Given the description of an element on the screen output the (x, y) to click on. 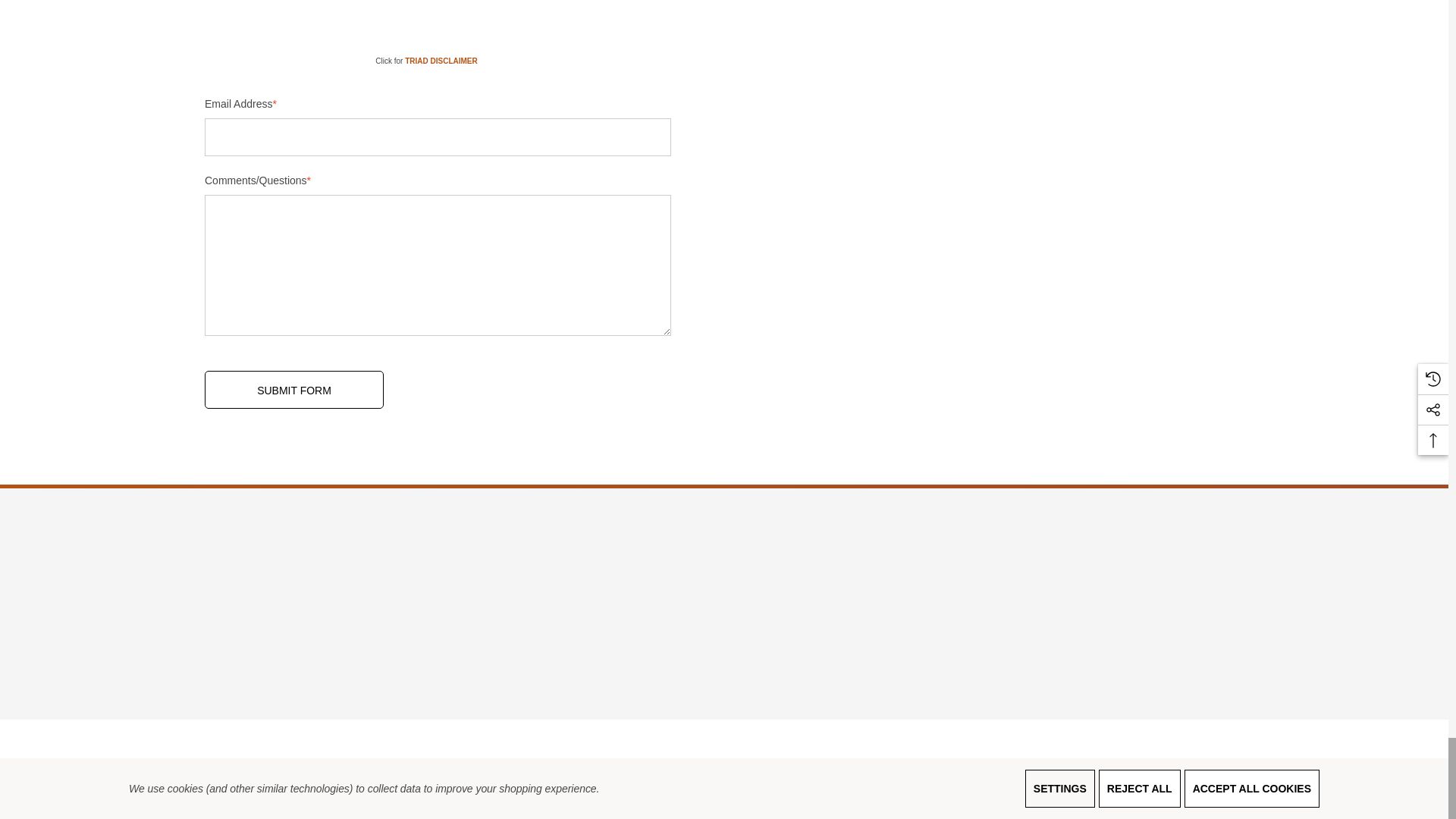
Western Union Western Union (1225, 770)
Discover Discover (1104, 770)
Amex Amex (1063, 770)
Cirrus Cirrus (1144, 770)
Submit Form (294, 389)
DISCLAIMER (440, 60)
Paypal Paypal (1184, 770)
Mastercard Mastercard (1024, 770)
Visa Visa (983, 770)
